Given the description of an element on the screen output the (x, y) to click on. 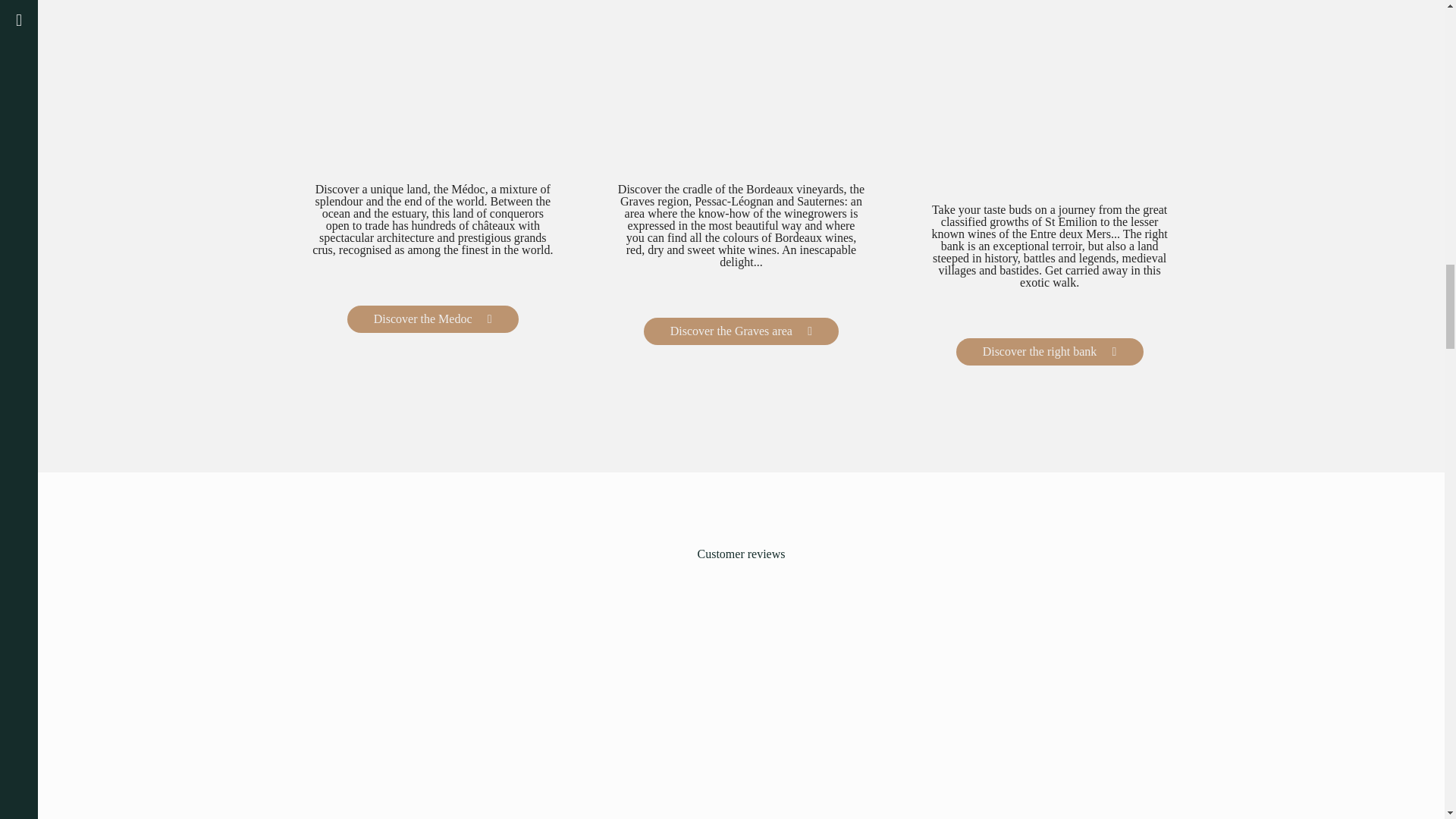
Discover the right bank (1049, 351)
Discover the Medoc (432, 318)
Discover the Graves area (741, 330)
